Given the description of an element on the screen output the (x, y) to click on. 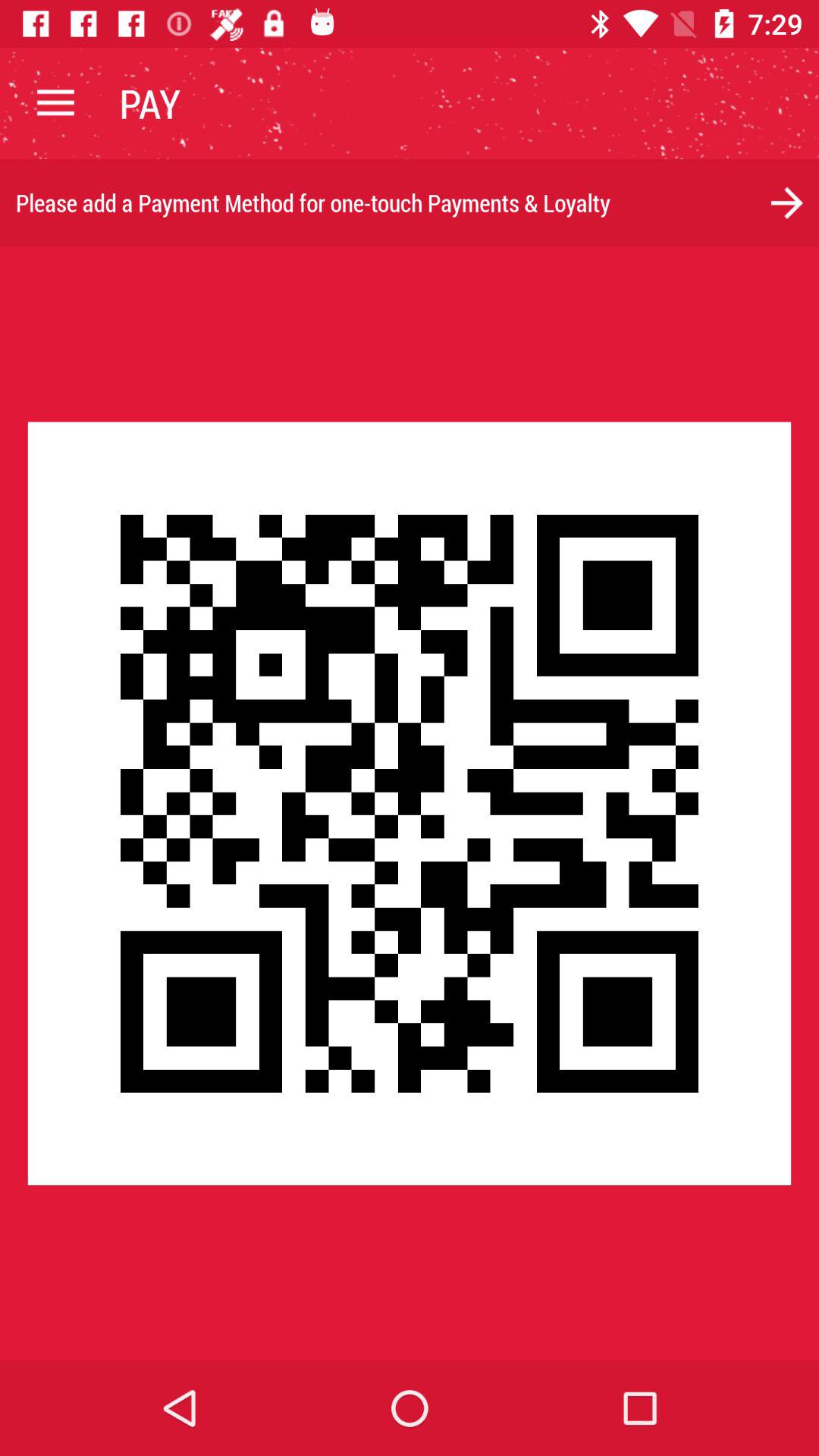
turn on icon to the left of pay (55, 103)
